Given the description of an element on the screen output the (x, y) to click on. 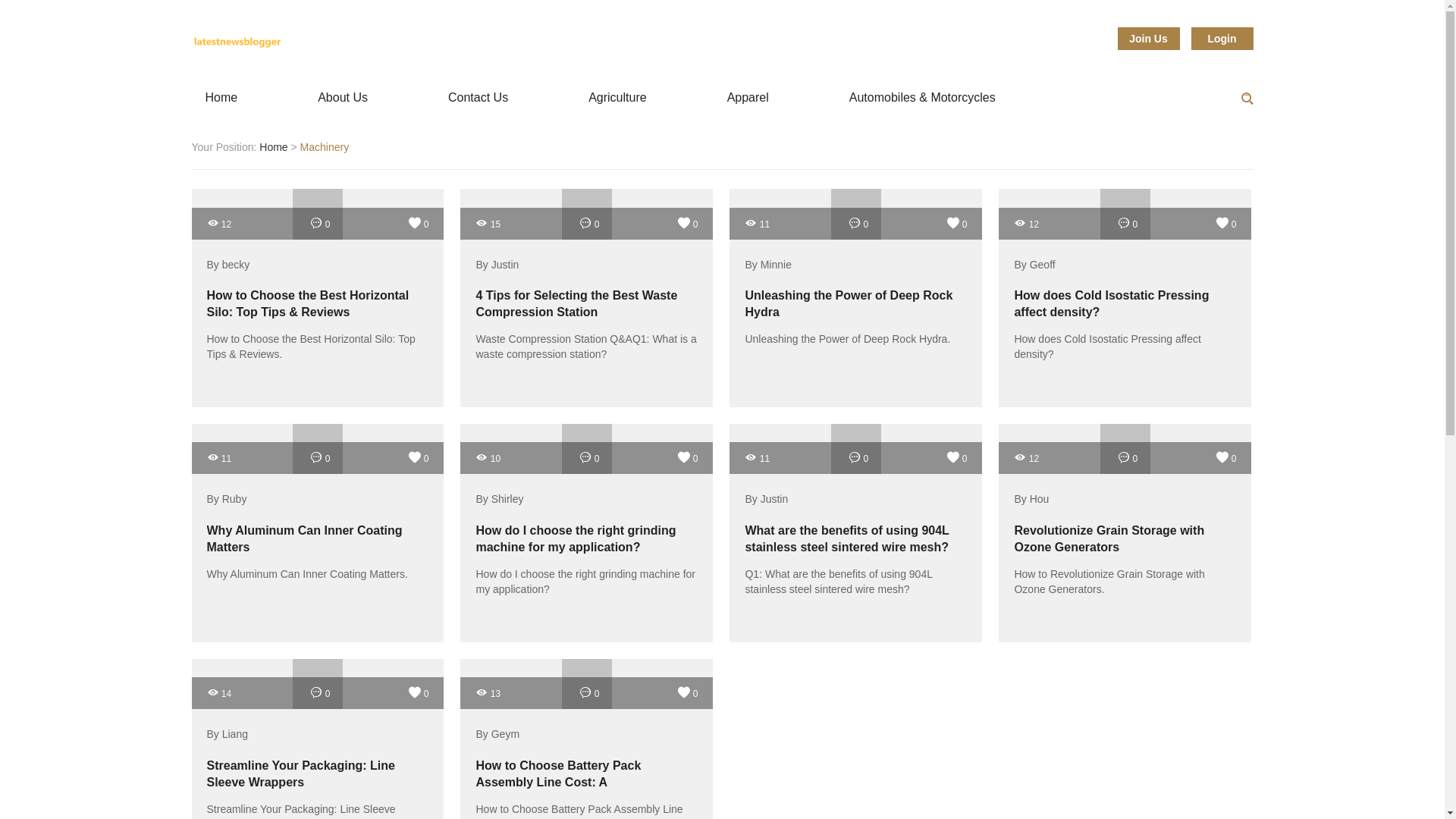
Join Us (1148, 38)
About Us (342, 98)
Home (220, 98)
Contact Us (477, 98)
Apparel (748, 98)
Agriculture (617, 98)
Home (220, 98)
Contact Us (477, 98)
Login (1221, 38)
About Us (342, 98)
Apparel (748, 98)
Home - latestnewsblogger (236, 42)
Agriculture (617, 98)
